Given the description of an element on the screen output the (x, y) to click on. 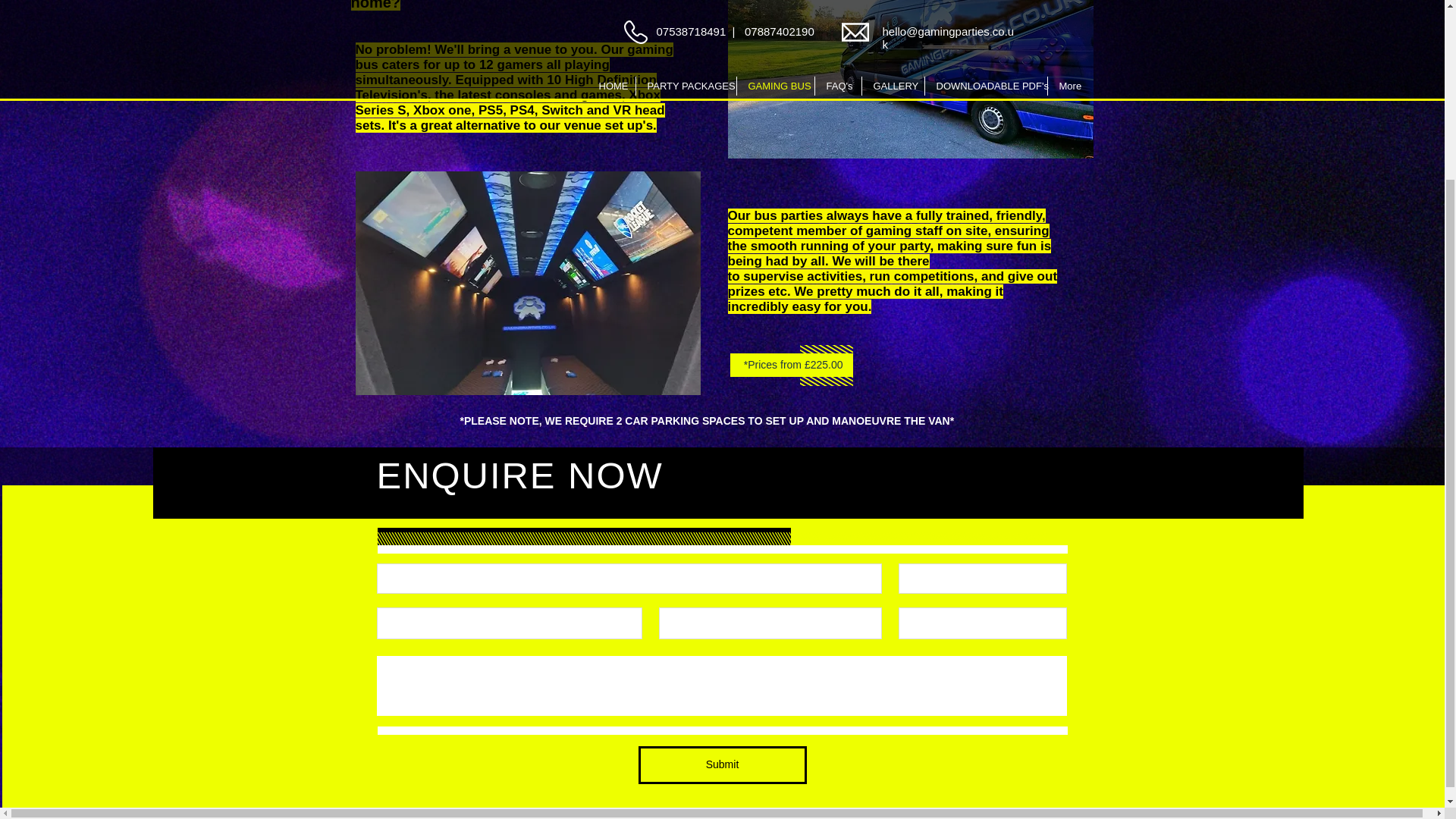
Submit (722, 764)
